Given the description of an element on the screen output the (x, y) to click on. 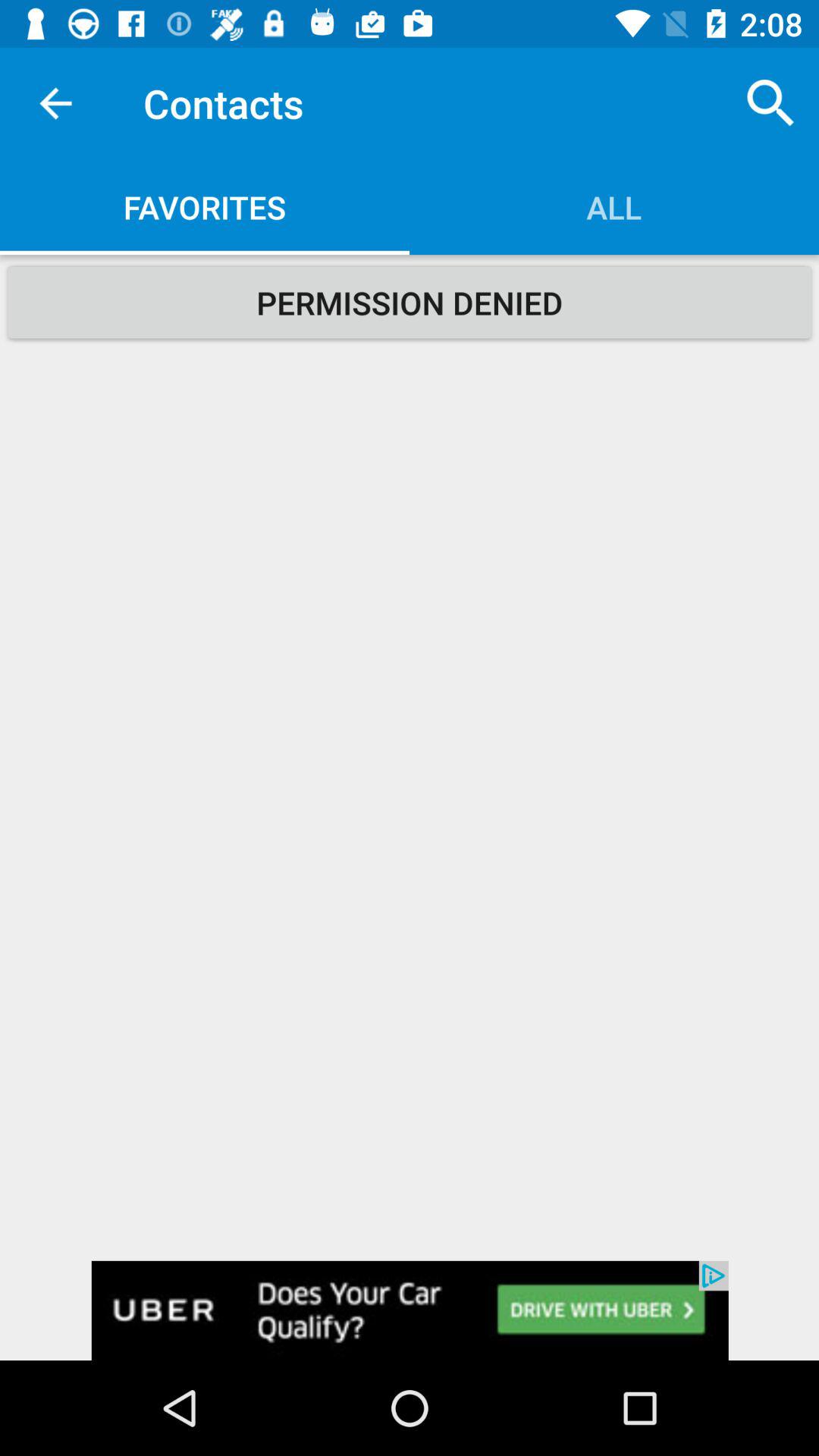
close advertisement (409, 1310)
